Given the description of an element on the screen output the (x, y) to click on. 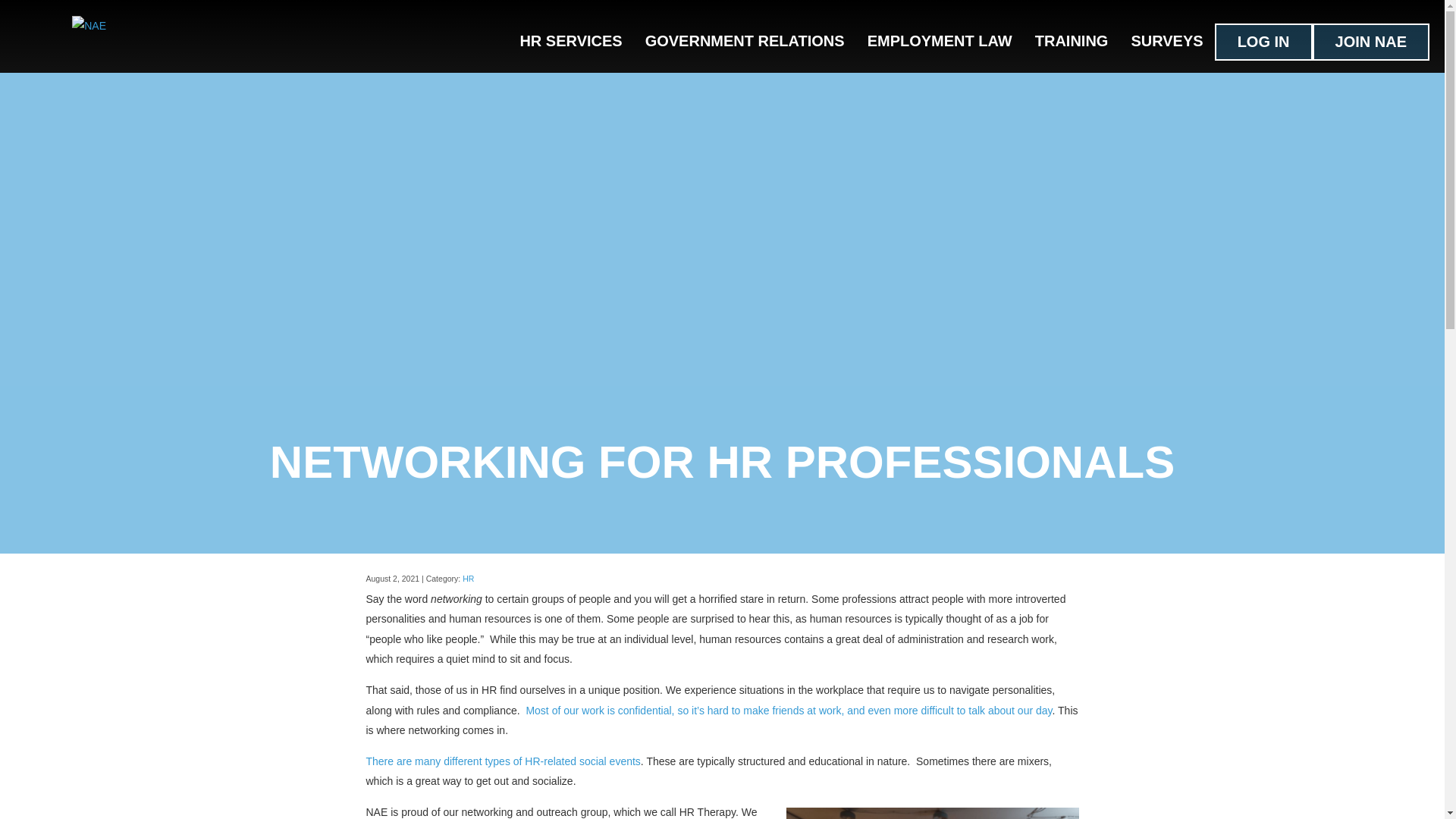
HR SERVICES (570, 40)
JOIN NAE (1371, 41)
NAE (88, 25)
SURVEYS (1166, 40)
LOG IN (1263, 41)
TRAINING (1071, 40)
GOVERNMENT RELATIONS (744, 40)
EMPLOYMENT LAW (939, 40)
